Given the description of an element on the screen output the (x, y) to click on. 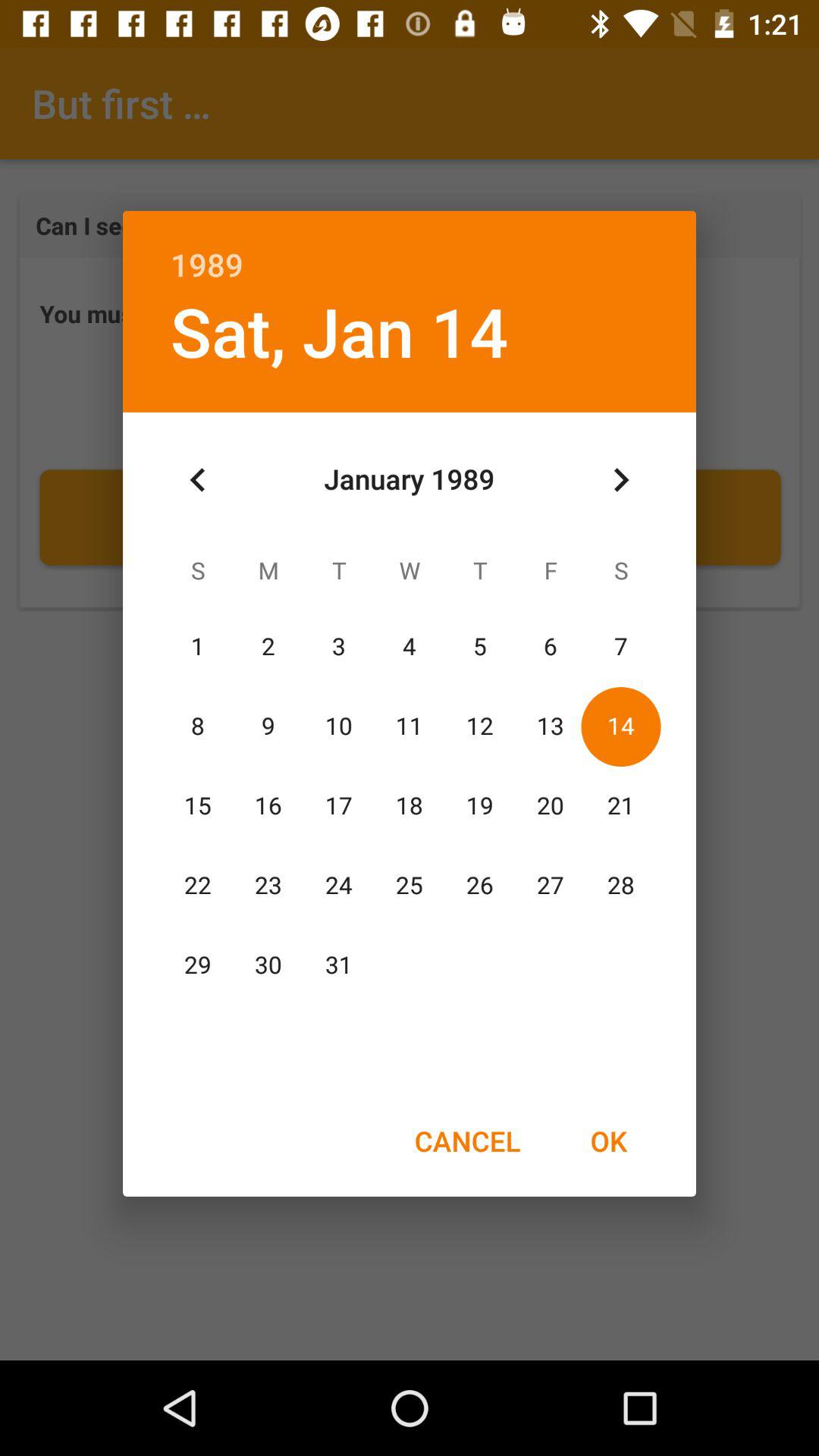
select the item at the bottom right corner (608, 1140)
